Given the description of an element on the screen output the (x, y) to click on. 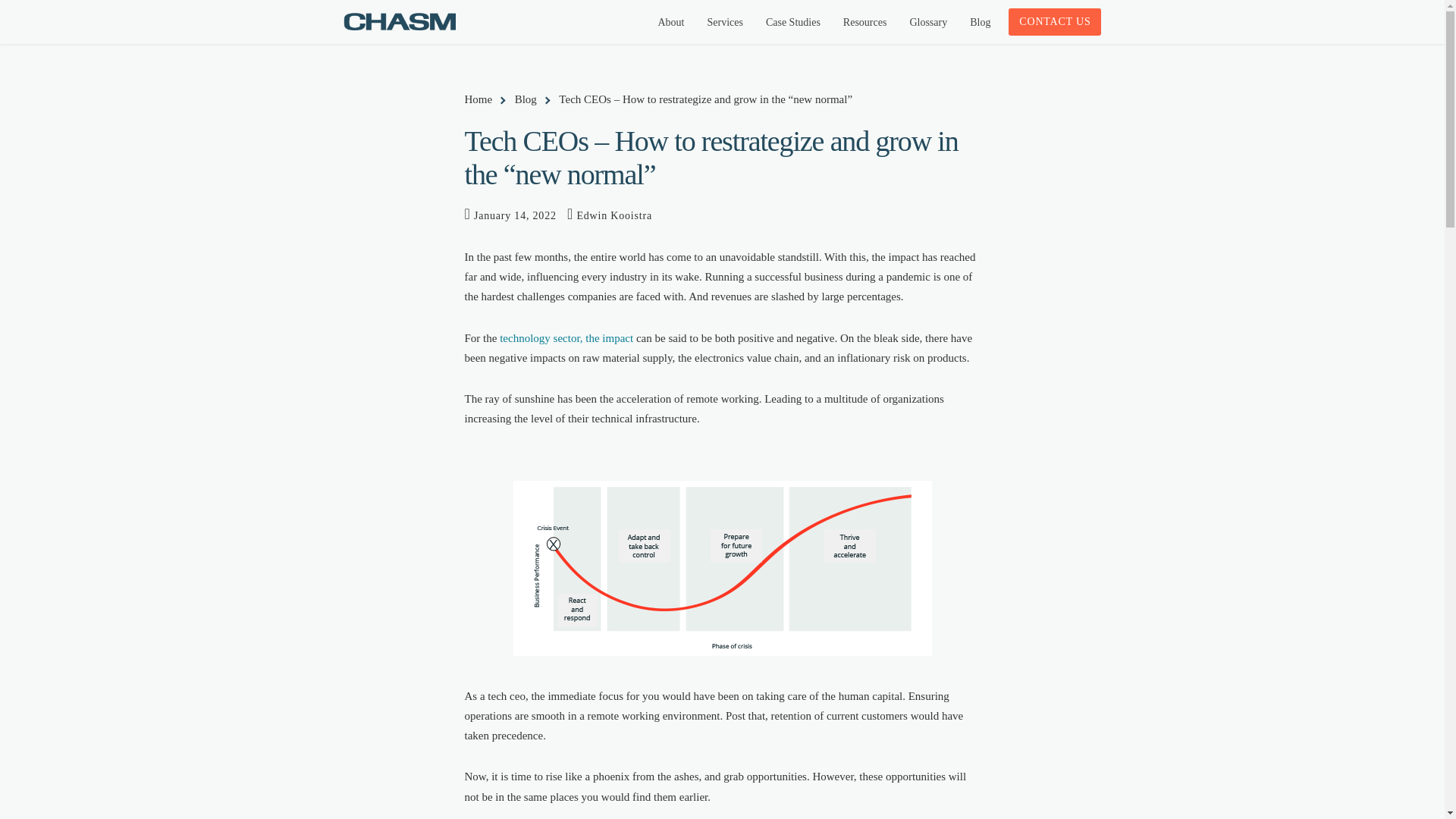
technology sector, the impact (566, 337)
Resources (864, 23)
Case Studies (792, 23)
Home (480, 99)
CONTACT US (1054, 22)
Blog (529, 99)
About (670, 23)
Glossary (928, 23)
Services (724, 23)
